Given the description of an element on the screen output the (x, y) to click on. 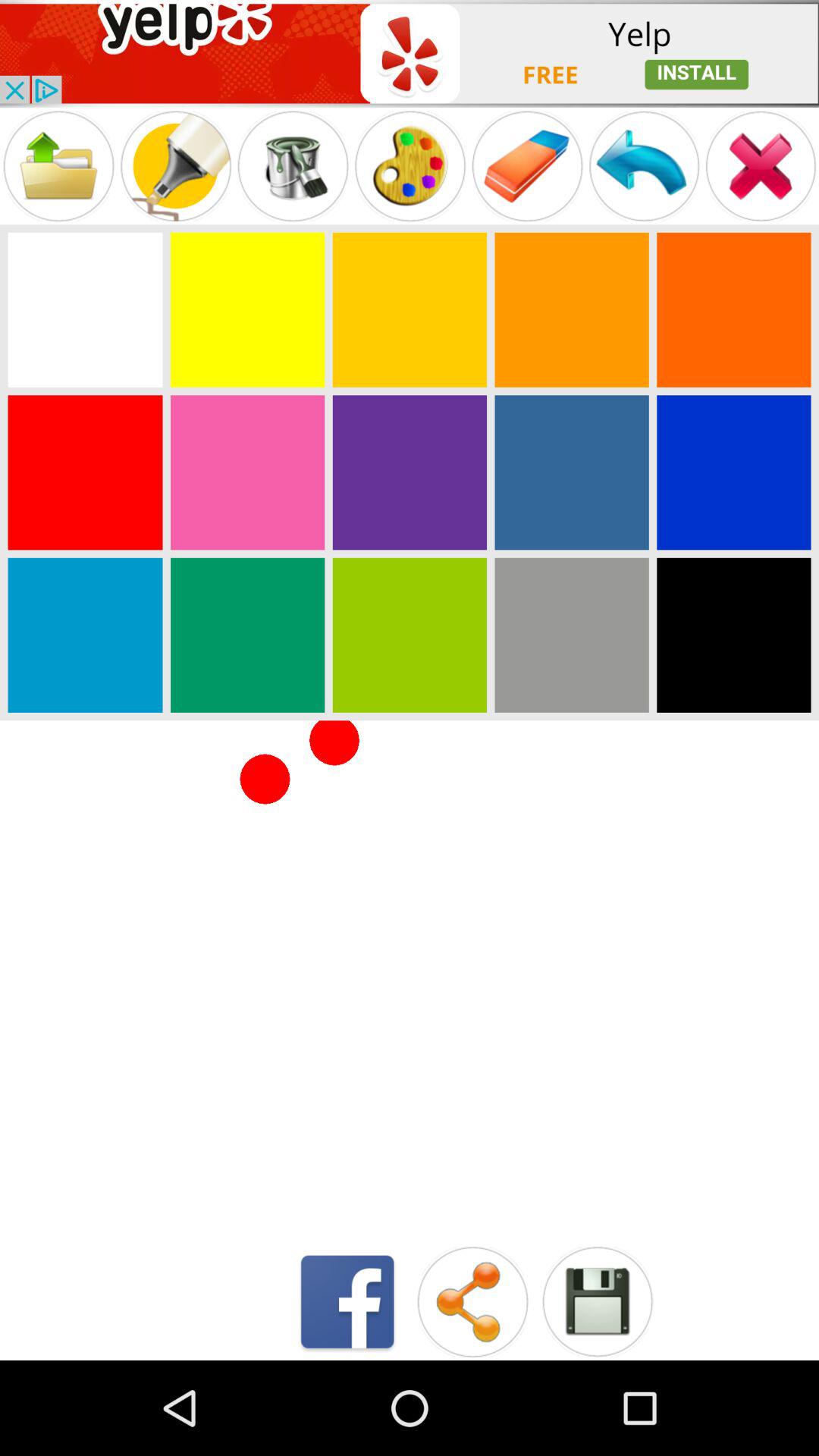
choose red color (84, 472)
